Given the description of an element on the screen output the (x, y) to click on. 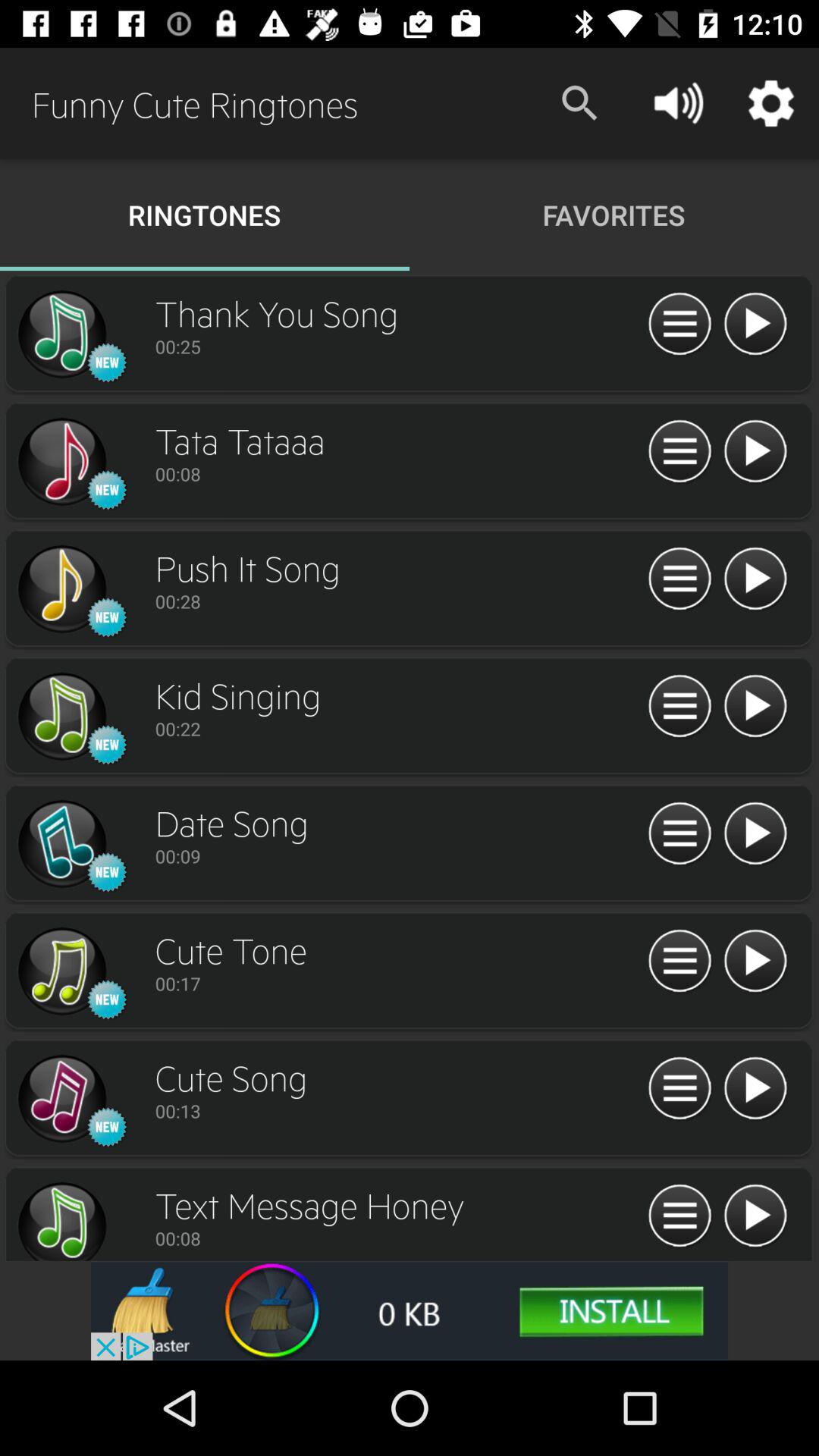
play (755, 324)
